Given the description of an element on the screen output the (x, y) to click on. 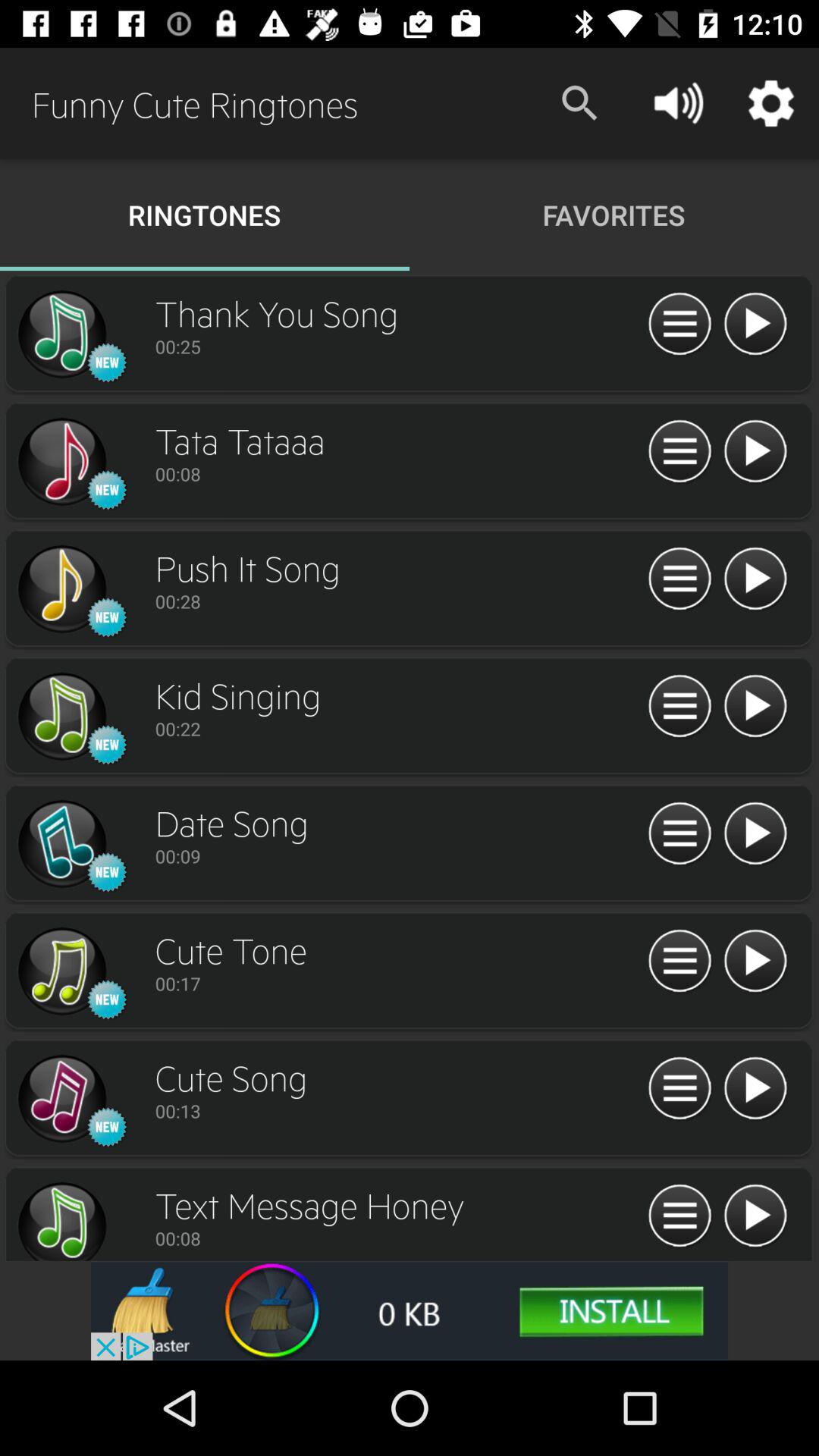
play (755, 324)
